Given the description of an element on the screen output the (x, y) to click on. 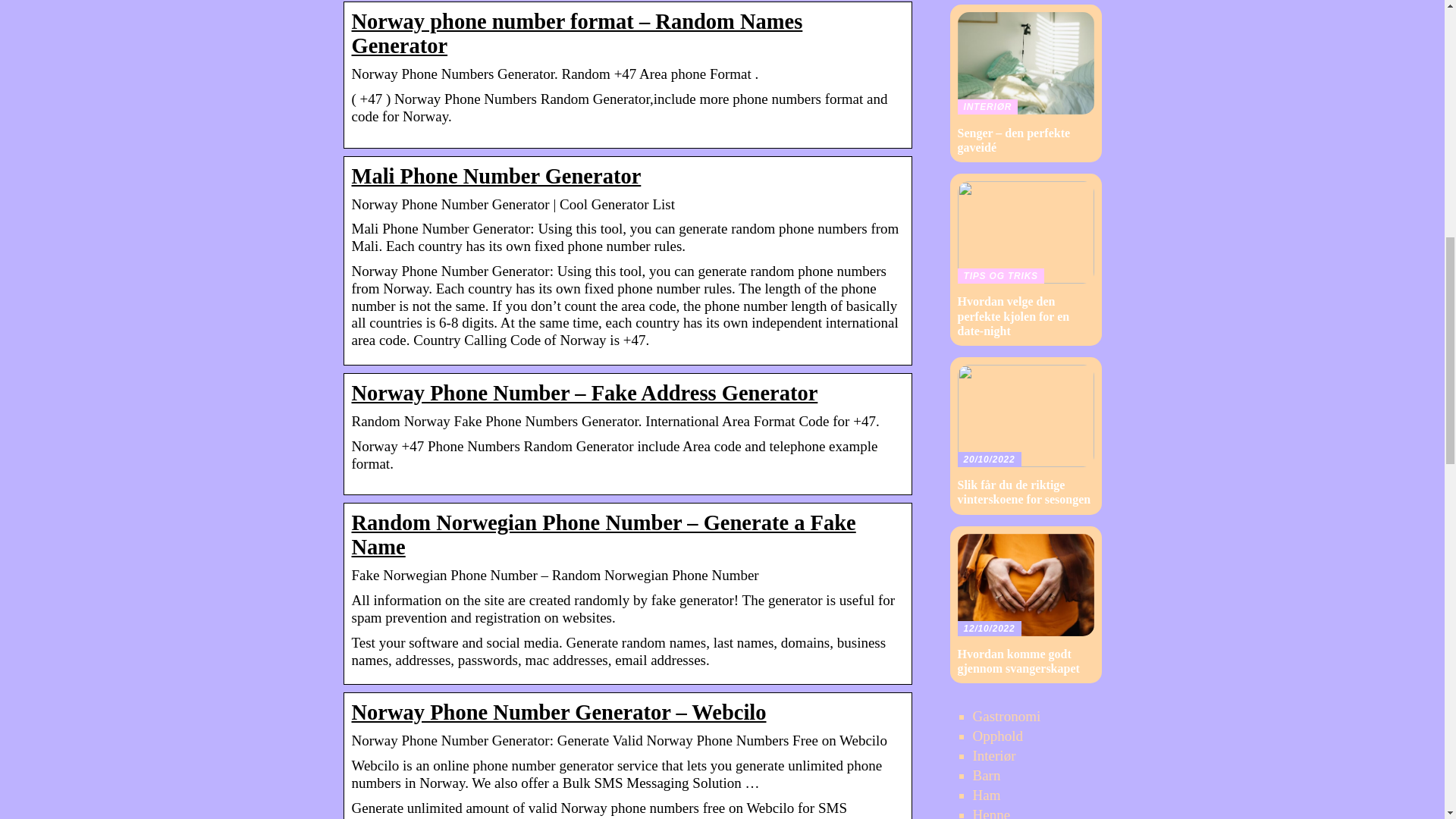
Gastronomi (1006, 715)
Barn (986, 774)
Ham (986, 795)
Opphold (997, 735)
Henne (991, 812)
